Given the description of an element on the screen output the (x, y) to click on. 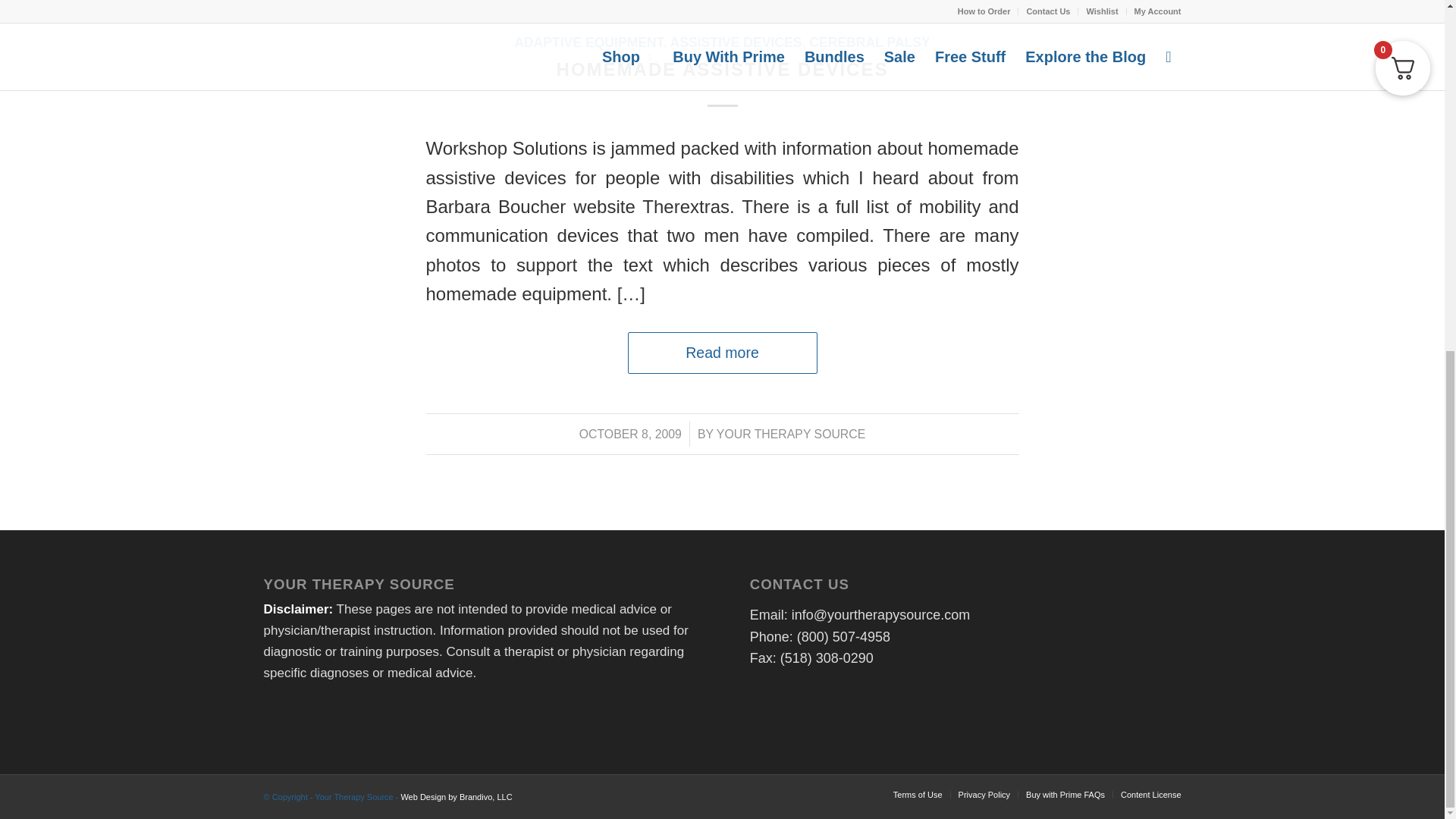
ADAPTIVE EQUIPMENT (587, 42)
Posts by Your Therapy Source (790, 433)
Permanent Link: Homemade Assistive Devices (722, 68)
ASSISTIVE DEVICES (735, 42)
